Given the description of an element on the screen output the (x, y) to click on. 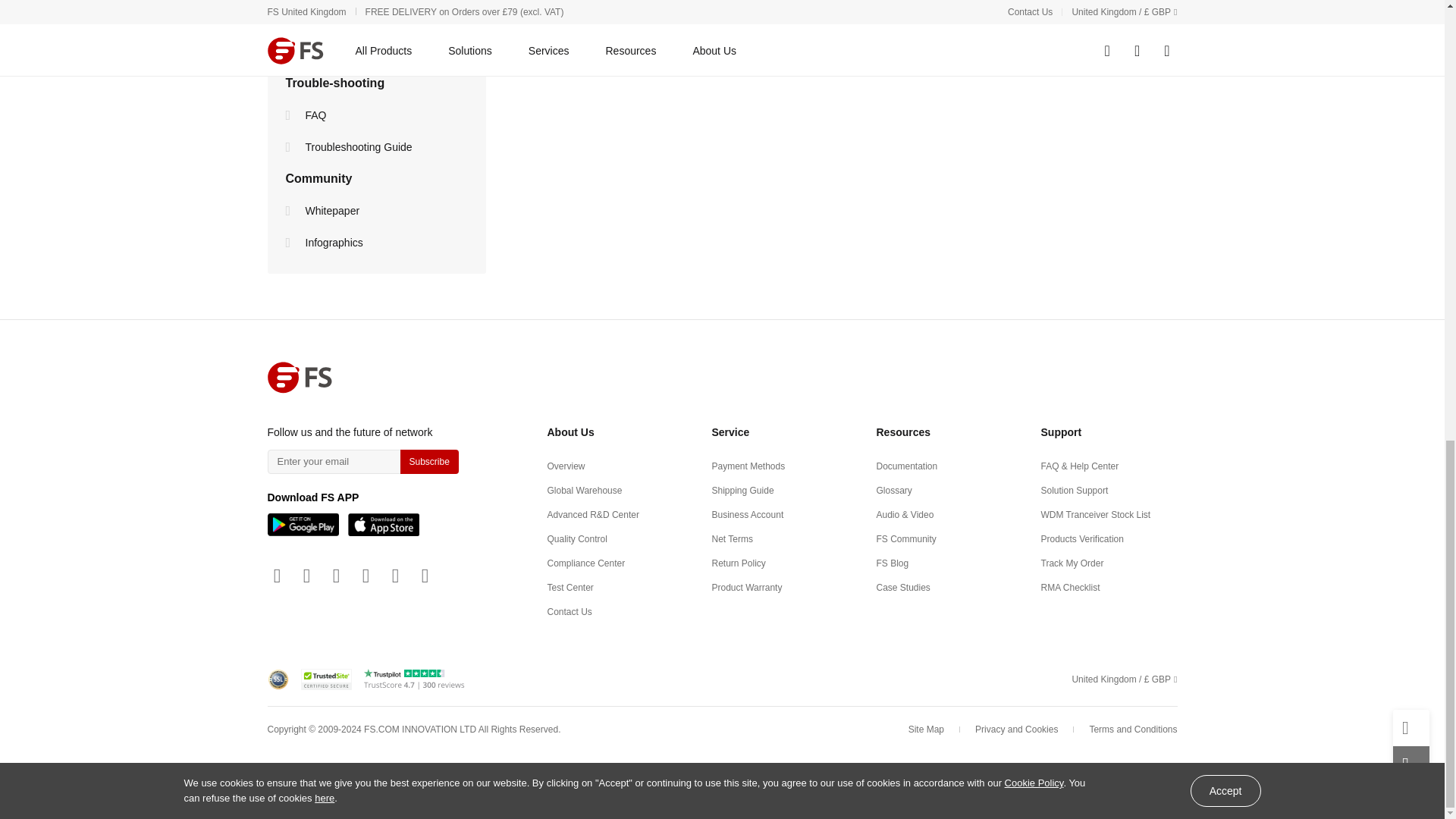
Troubleshooting Guide (291, 146)
FAQ (291, 115)
User Manual (291, 19)
FS Youtube (307, 576)
FS Linkedin (276, 576)
FS Twitter (365, 576)
FS Instagram (394, 576)
FS Facebook (336, 576)
Release Note (291, 51)
FS Reddit (424, 576)
